Given the description of an element on the screen output the (x, y) to click on. 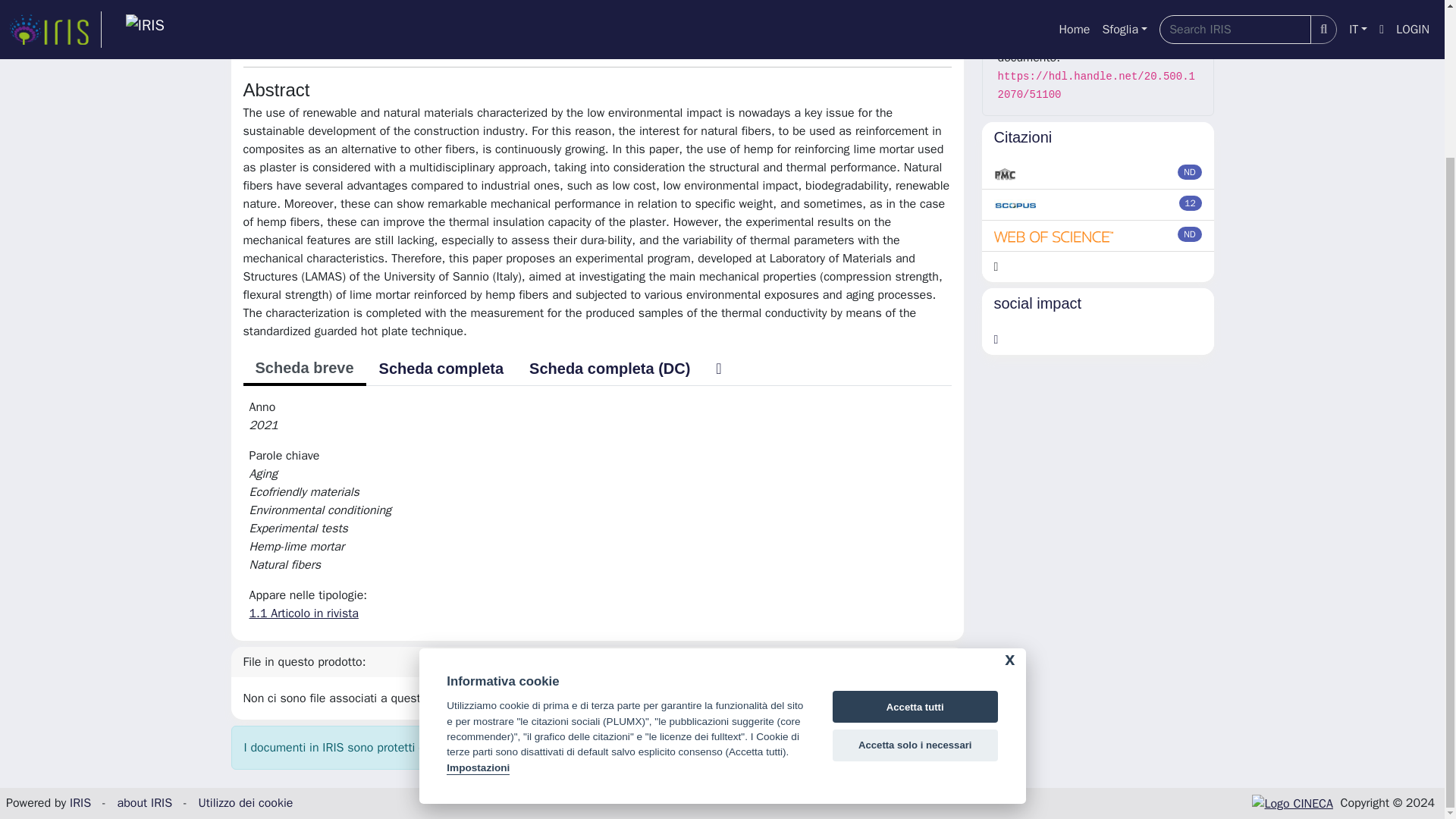
1.1 Articolo in rivista (303, 613)
Parcesepe E. (291, 13)
Mauro G. M. (490, 13)
De Masi R. F. (392, 13)
Scheda completa (441, 368)
Scheda breve (304, 368)
aggiornato in data 28-07-2024 18:03 (1190, 202)
Maddaloni G. (681, 13)
Pecce M. R. (584, 13)
